Given the description of an element on the screen output the (x, y) to click on. 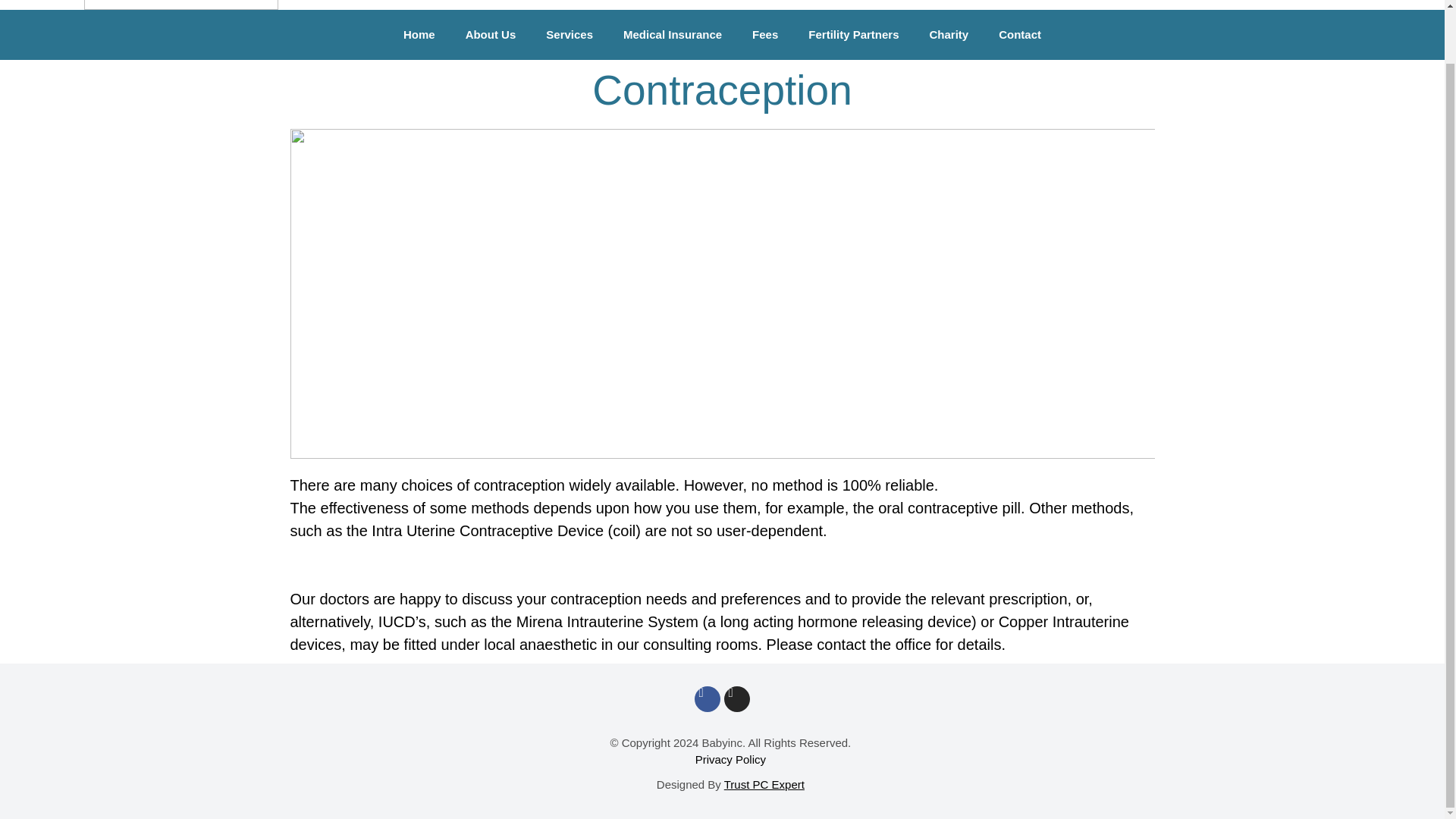
About Us (490, 34)
Contact (1020, 34)
Charity (949, 34)
Home (418, 34)
Medical Insurance (672, 34)
Services (569, 34)
Fertility Partners (853, 34)
Fees (764, 34)
